Given the description of an element on the screen output the (x, y) to click on. 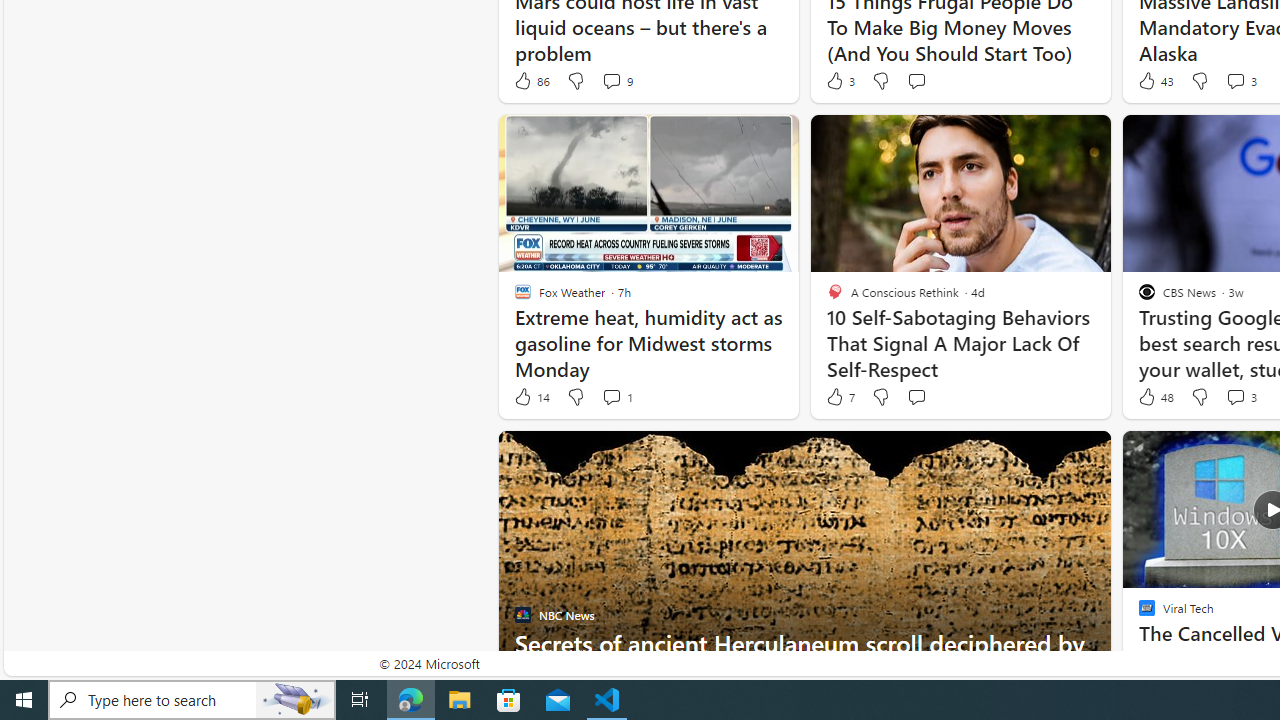
86 Like (531, 80)
View comments 3 Comment (1234, 396)
